Given the description of an element on the screen output the (x, y) to click on. 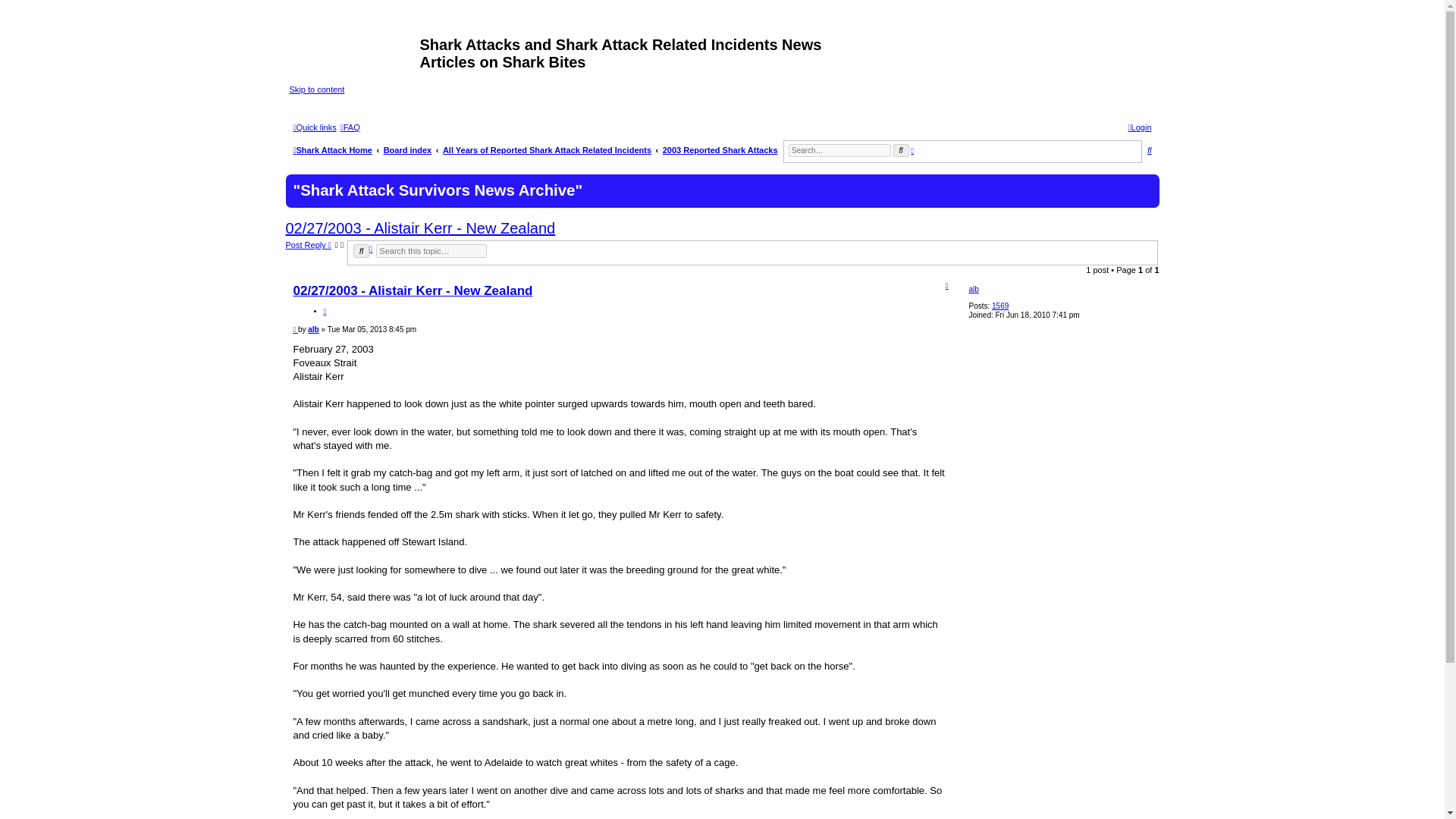
Shark Attack Home (354, 49)
Search (900, 150)
Search (361, 250)
Post a reply (307, 244)
2003 Reported Shark Attacks (719, 149)
alb (973, 289)
Search (361, 250)
Board index (408, 149)
Topic tools (338, 244)
Shark Attack Home (332, 149)
